Given the description of an element on the screen output the (x, y) to click on. 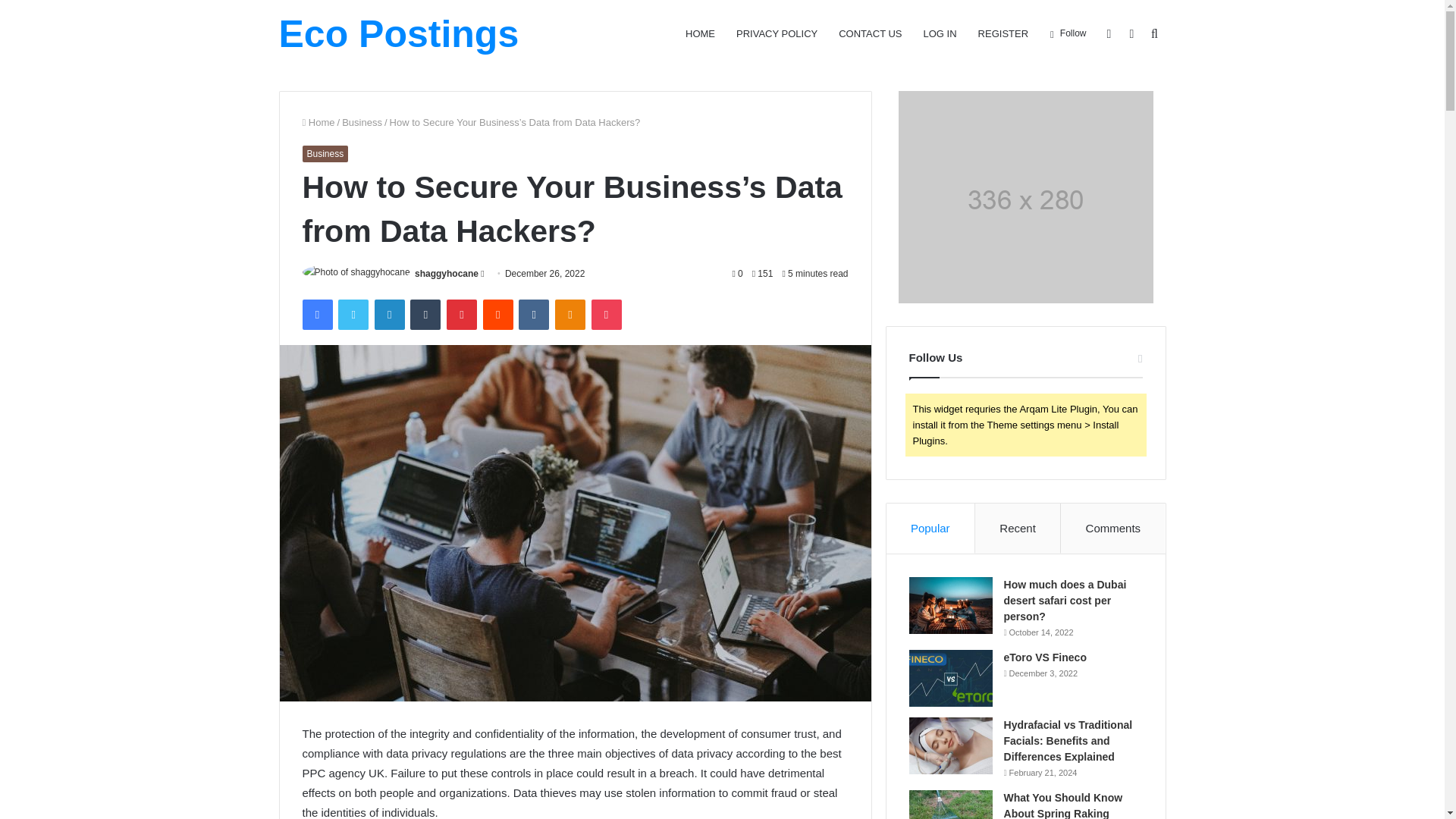
REGISTER (1003, 33)
Business (324, 153)
Twitter (352, 314)
Eco Postings (399, 34)
VKontakte (533, 314)
shaggyhocane (446, 273)
Pocket (606, 314)
Pinterest (461, 314)
Reddit (498, 314)
VKontakte (533, 314)
CONTACT US (870, 33)
Facebook (316, 314)
Tumblr (425, 314)
Pinterest (461, 314)
PRIVACY POLICY (776, 33)
